Given the description of an element on the screen output the (x, y) to click on. 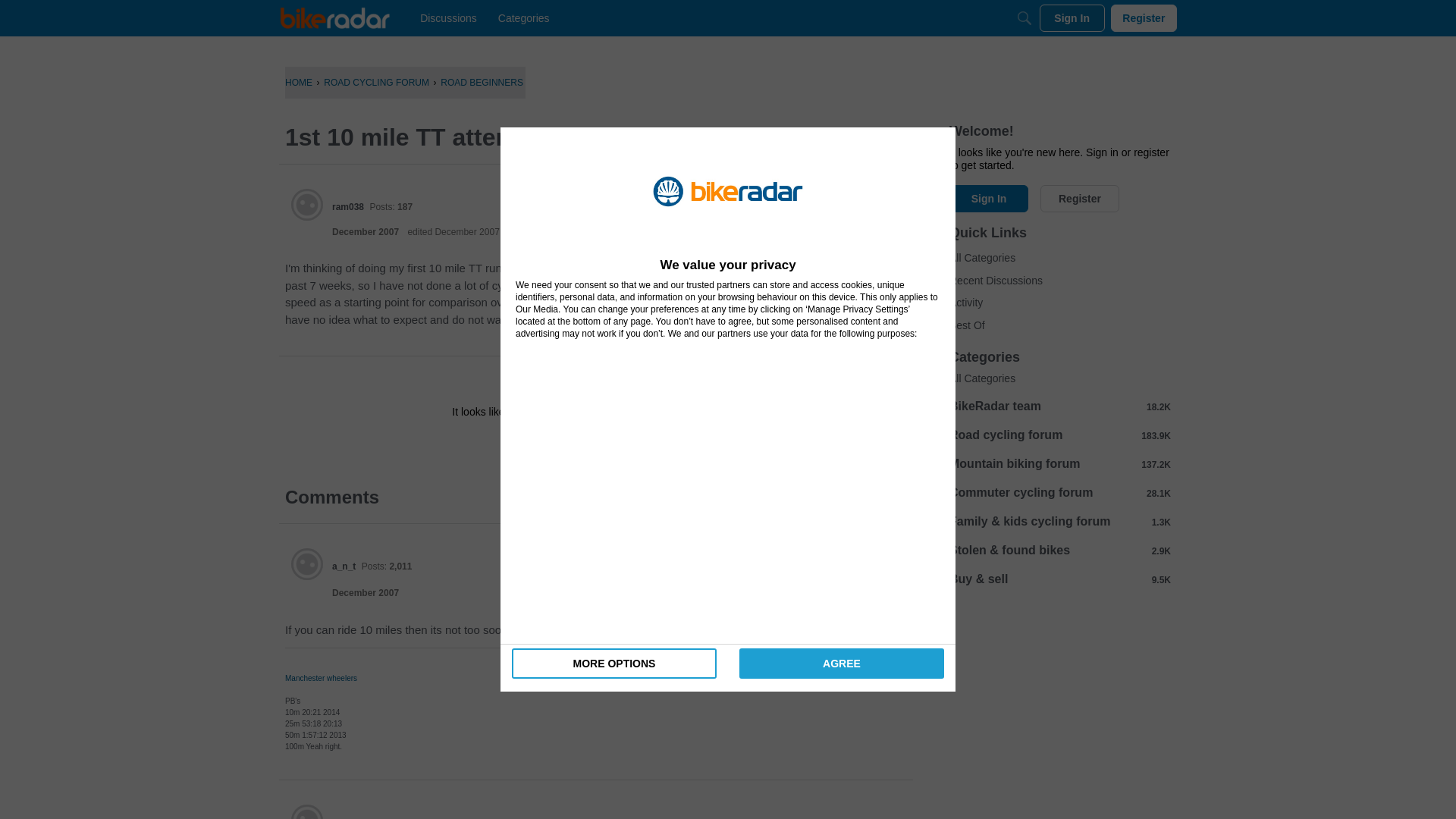
Sign In (1072, 17)
CarlosFerreiro (362, 818)
ram038 (307, 204)
Sign In (547, 445)
December 13, 2007 5:30PM (364, 593)
Register (638, 445)
December 2007 (364, 231)
December 13, 2007 5:17PM (364, 231)
ROAD BEGINNERS (481, 81)
ROAD CYCLING FORUM (376, 81)
CarlosFerreiro (307, 811)
HOME (299, 81)
Sign In (547, 445)
Discussions (448, 17)
Edited December 31, 2007 1:33AM. (453, 231)
